Given the description of an element on the screen output the (x, y) to click on. 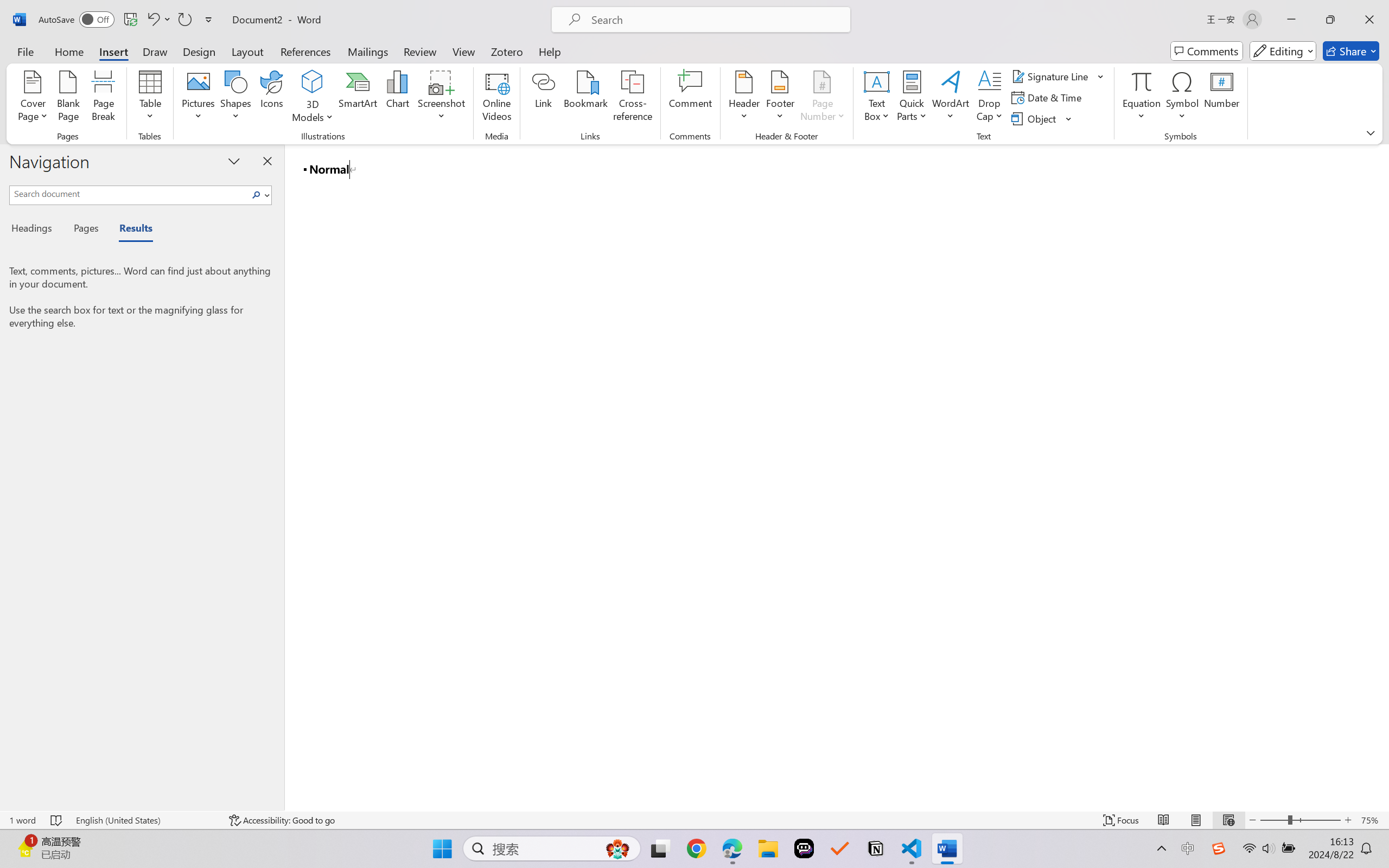
SmartArt... (358, 97)
Word Count 1 word (21, 819)
